Given the description of an element on the screen output the (x, y) to click on. 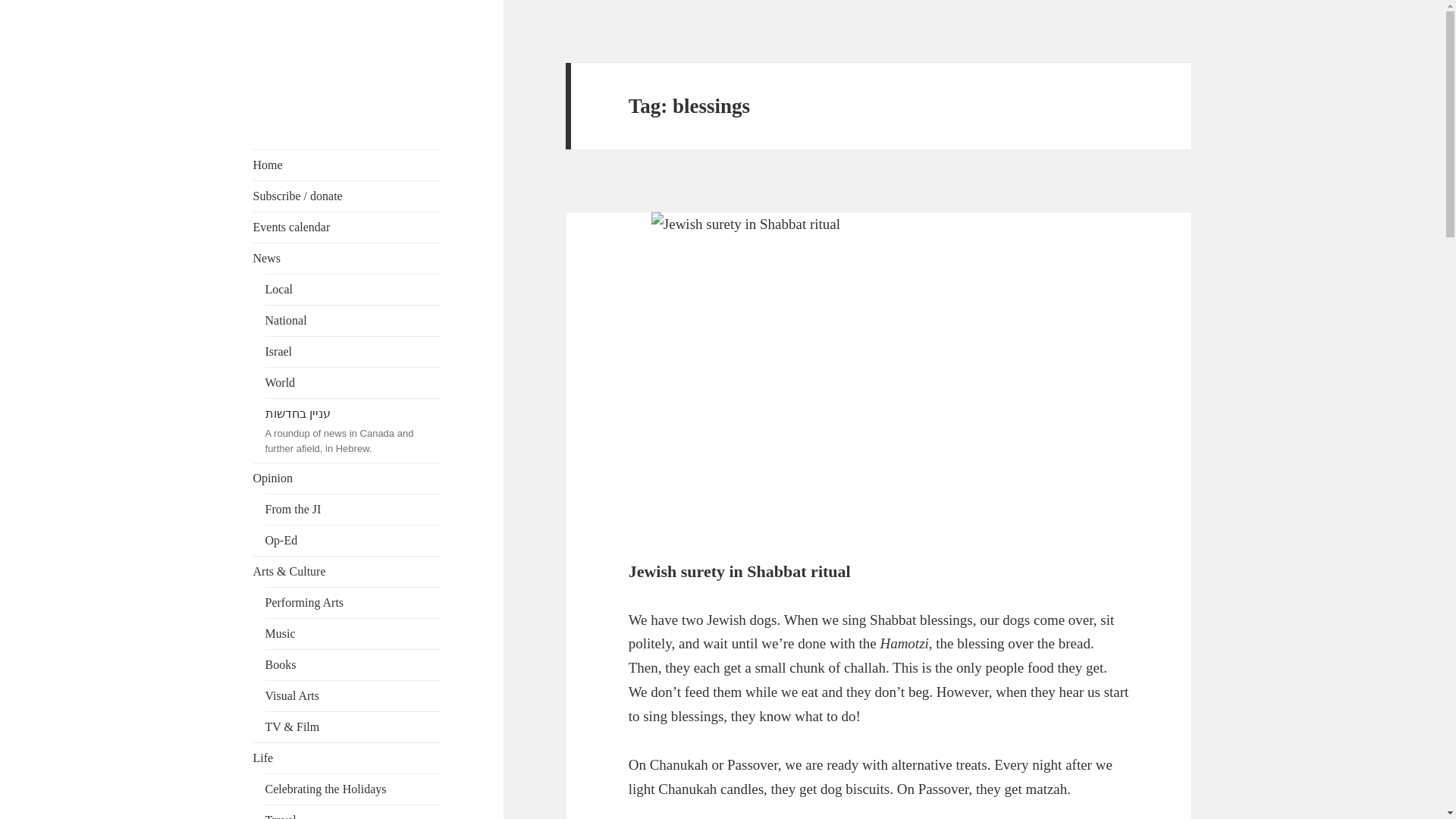
Music (352, 634)
Visual Arts (352, 695)
National (352, 320)
News (347, 258)
World (352, 382)
Celebrating the Holidays (352, 788)
Performing Arts (352, 603)
Opinion (347, 478)
From the JI (352, 509)
Op-Ed (352, 540)
